Given the description of an element on the screen output the (x, y) to click on. 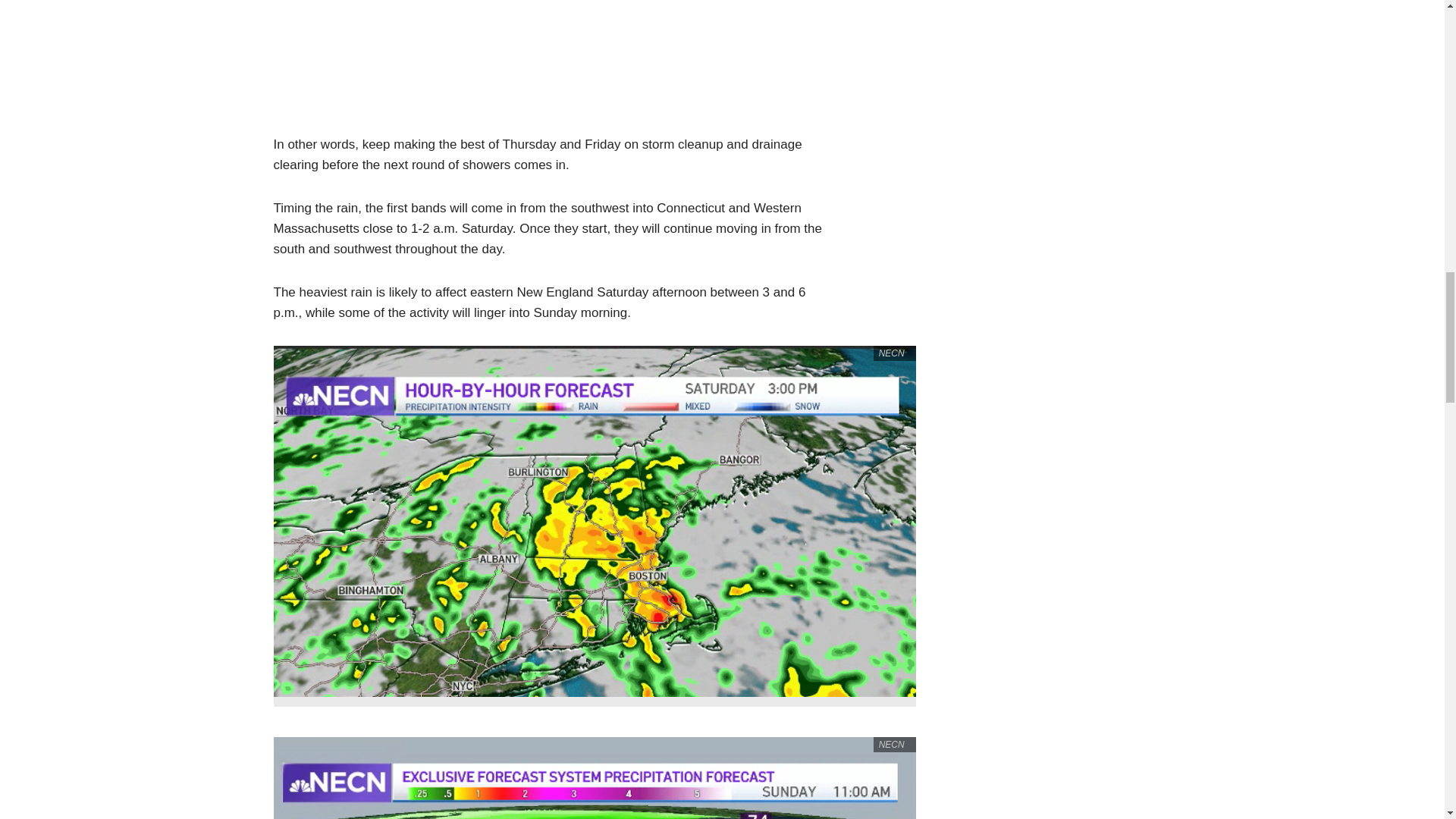
Map (552, 55)
